Given the description of an element on the screen output the (x, y) to click on. 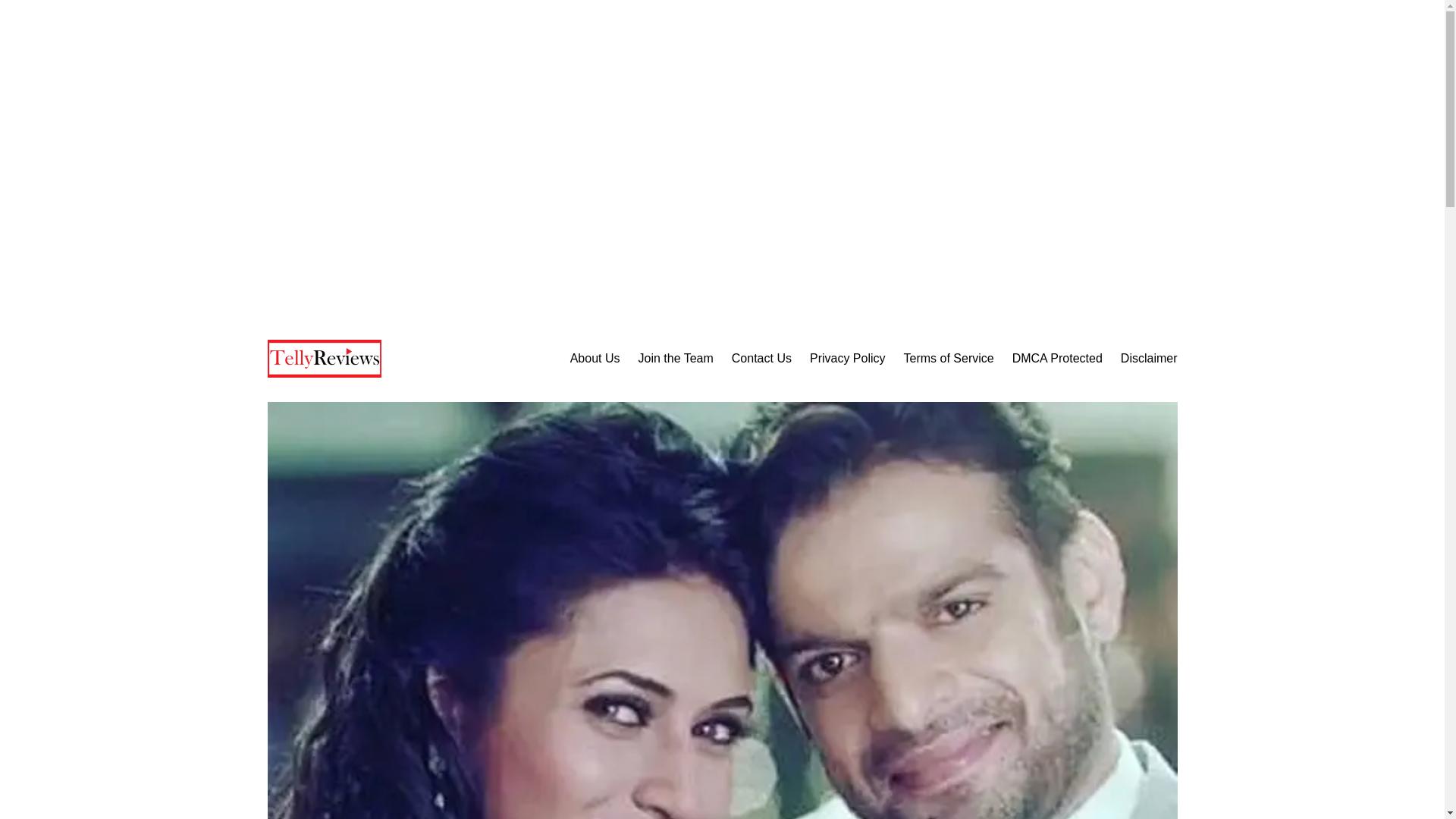
About Us (595, 358)
Privacy Policy (847, 358)
DMCA Protected (1056, 358)
Disclaimer (1149, 358)
Join the Team (675, 358)
Contact Us (762, 358)
Terms of Service (949, 358)
